Given the description of an element on the screen output the (x, y) to click on. 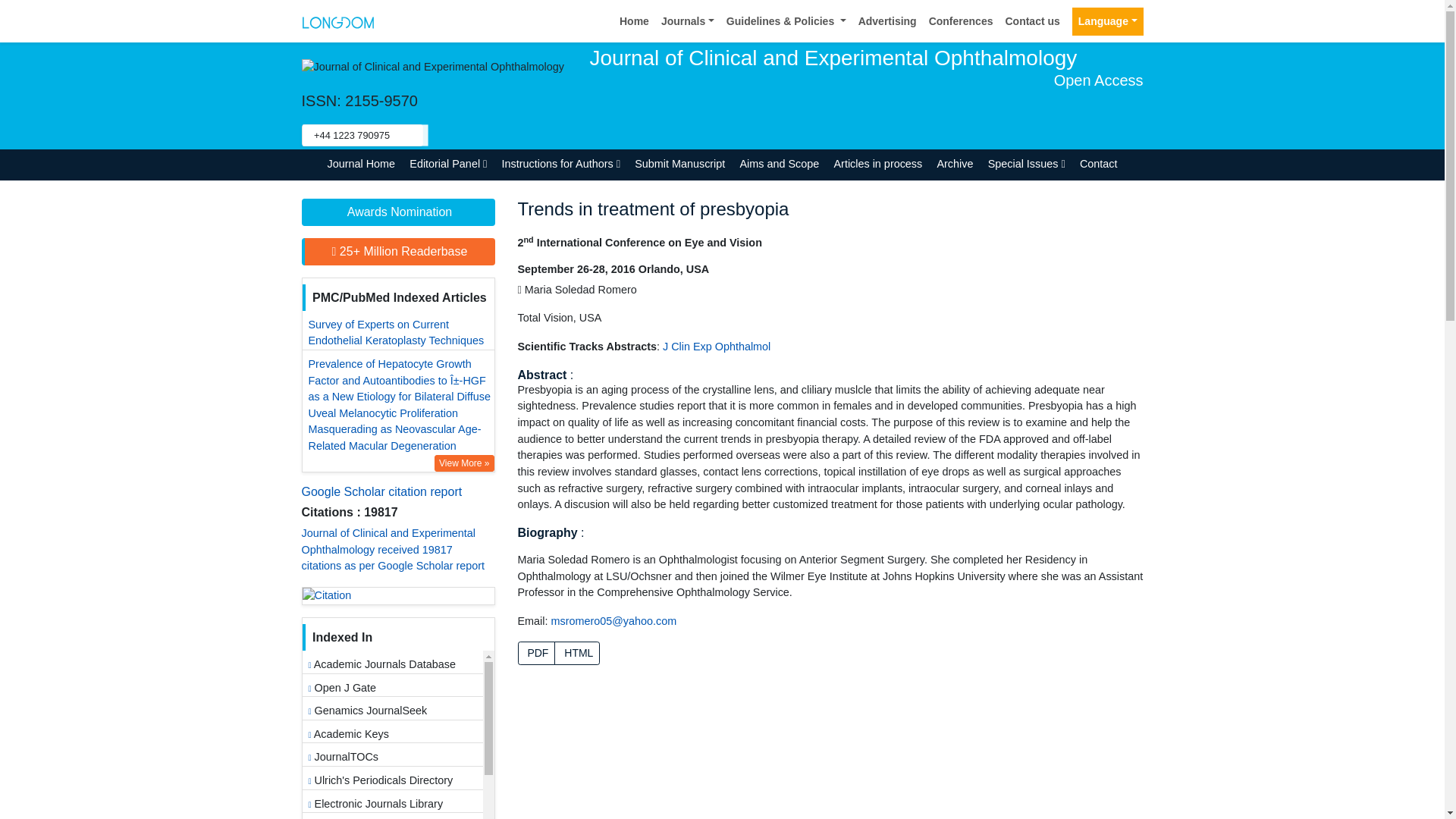
Articles in process (878, 164)
Aims and Scope (779, 164)
Instructions for Authors (561, 164)
Home (633, 21)
Conferences (960, 21)
Home (633, 21)
Advertising (887, 21)
Journal Home (361, 164)
Submit Manuscript (679, 164)
Archive (954, 164)
